Given the description of an element on the screen output the (x, y) to click on. 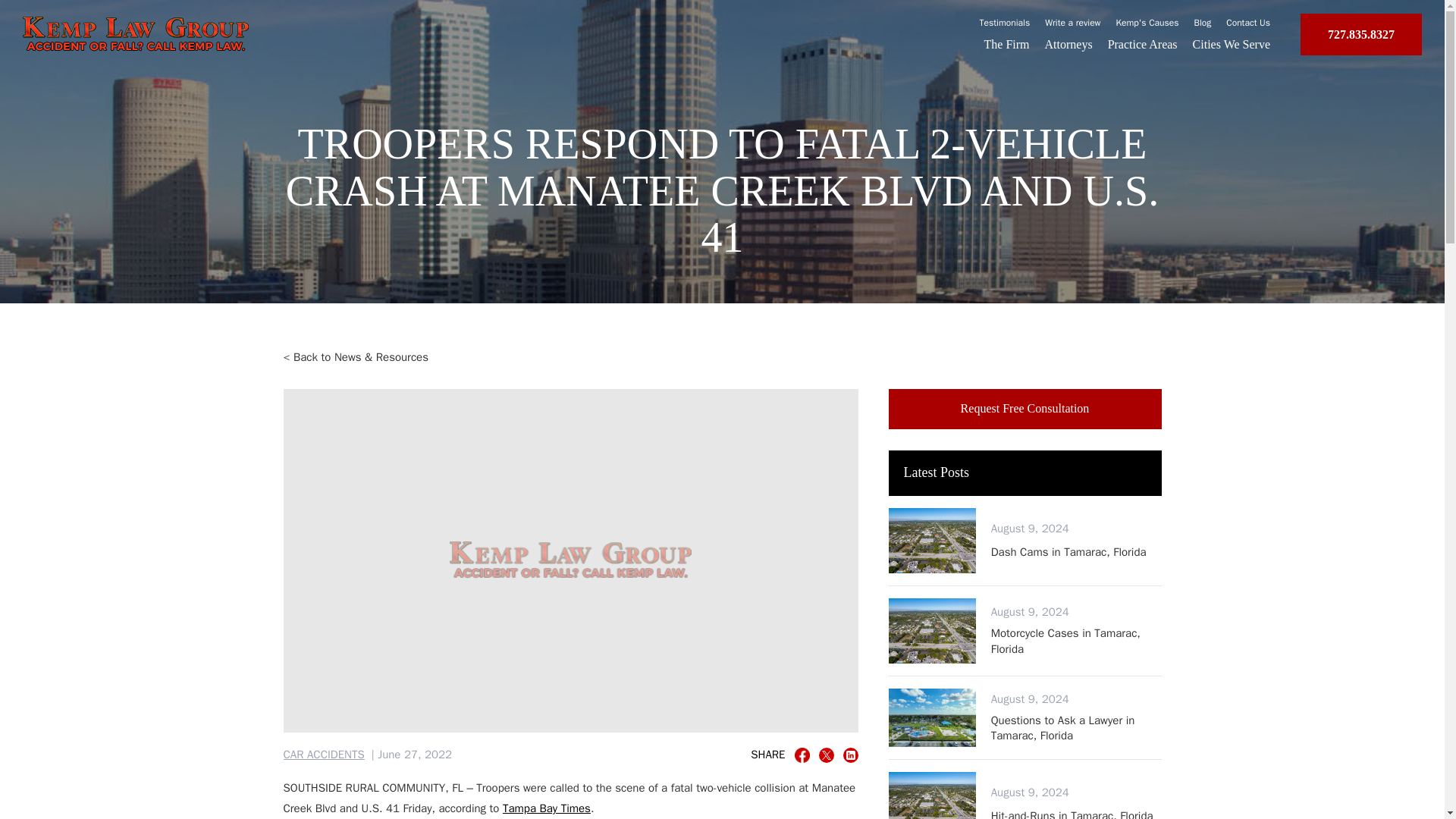
Practice Areas (1142, 43)
Motorcycle Cases in Tamarac, Florida (1076, 640)
Questions to Ask a Lawyer in Tamarac, Florida (1076, 727)
Latest Posts (1024, 473)
CAR ACCIDENTS (324, 754)
The Firm (1024, 408)
Hit-and-Runs in Tamarac, Florida (1006, 43)
Write a review (1072, 813)
Blog (1072, 22)
